Given the description of an element on the screen output the (x, y) to click on. 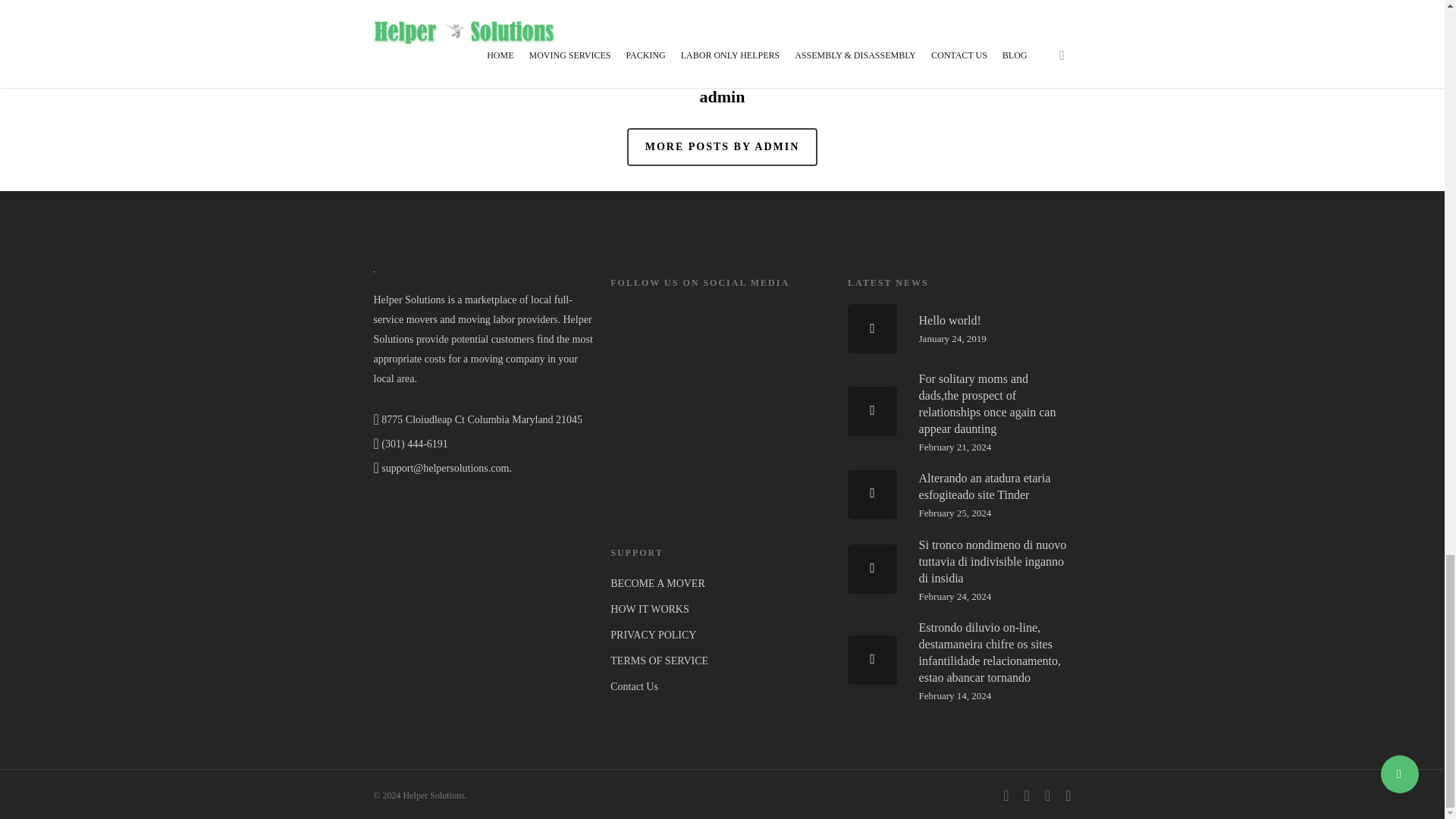
HOW IT WORKS (721, 609)
BECOME A MOVER (721, 583)
MORE POSTS BY ADMIN (722, 146)
Contact Us (721, 686)
PRIVACY POLICY (721, 635)
TERMS OF SERVICE (958, 327)
